Given the description of an element on the screen output the (x, y) to click on. 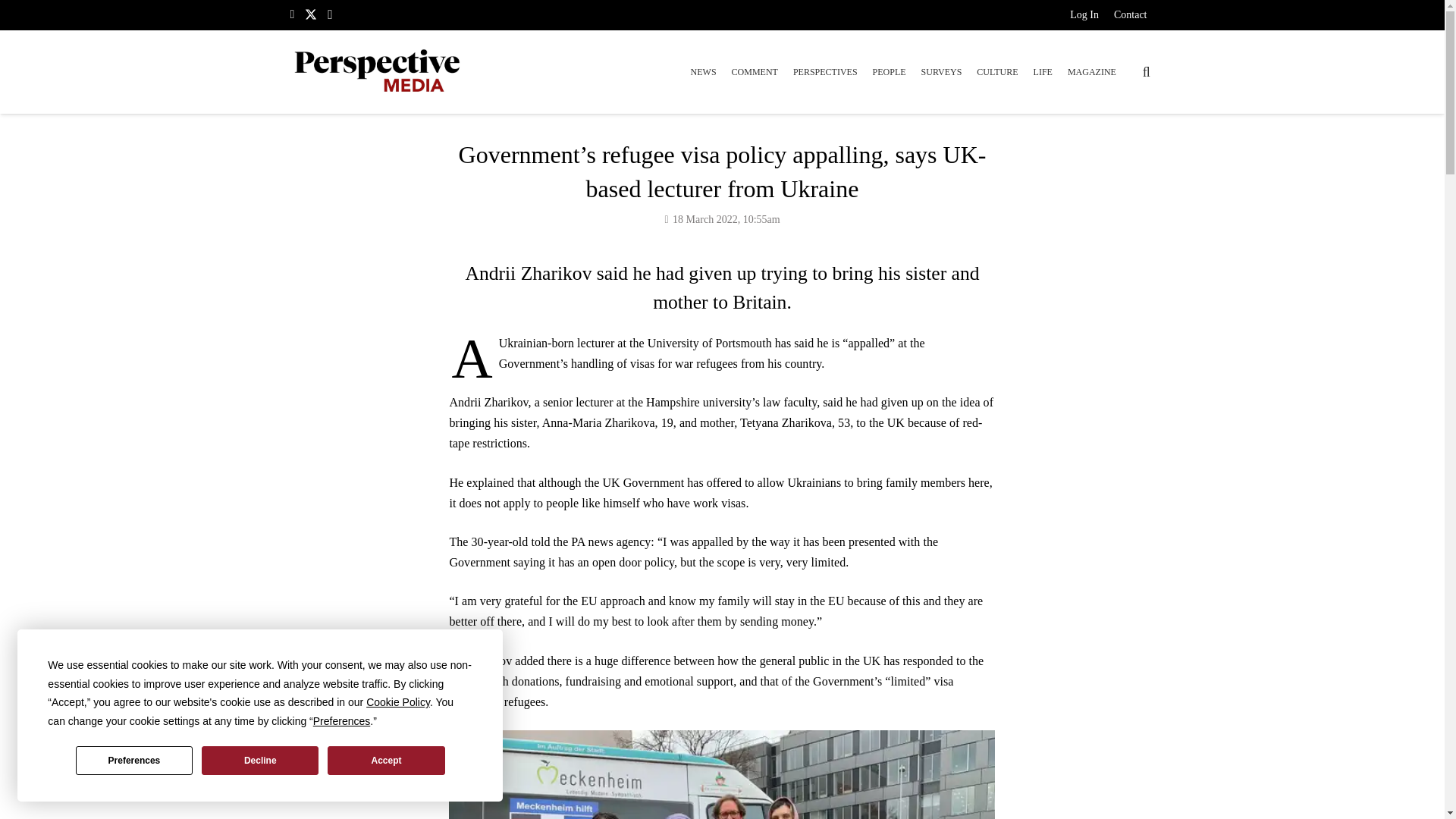
PEOPLE (889, 71)
Decline (260, 759)
MAGAZINE (1091, 71)
LIFE (1042, 71)
NEWS (702, 71)
Contact (1130, 17)
Preferences (133, 759)
PERSPECTIVES (825, 71)
Accept (385, 759)
SURVEYS (941, 71)
